Given the description of an element on the screen output the (x, y) to click on. 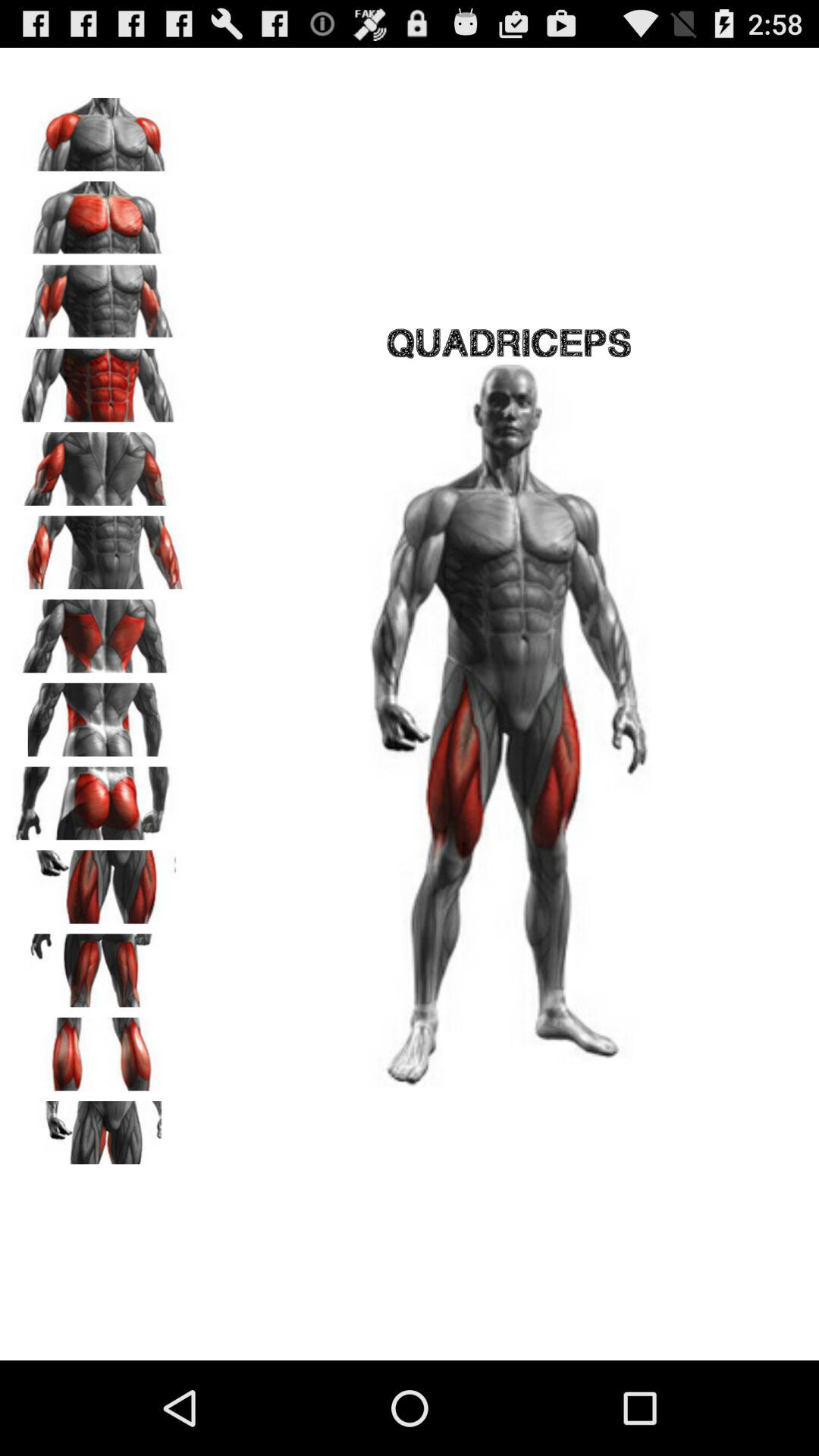
side back muscles (99, 630)
